Given the description of an element on the screen output the (x, y) to click on. 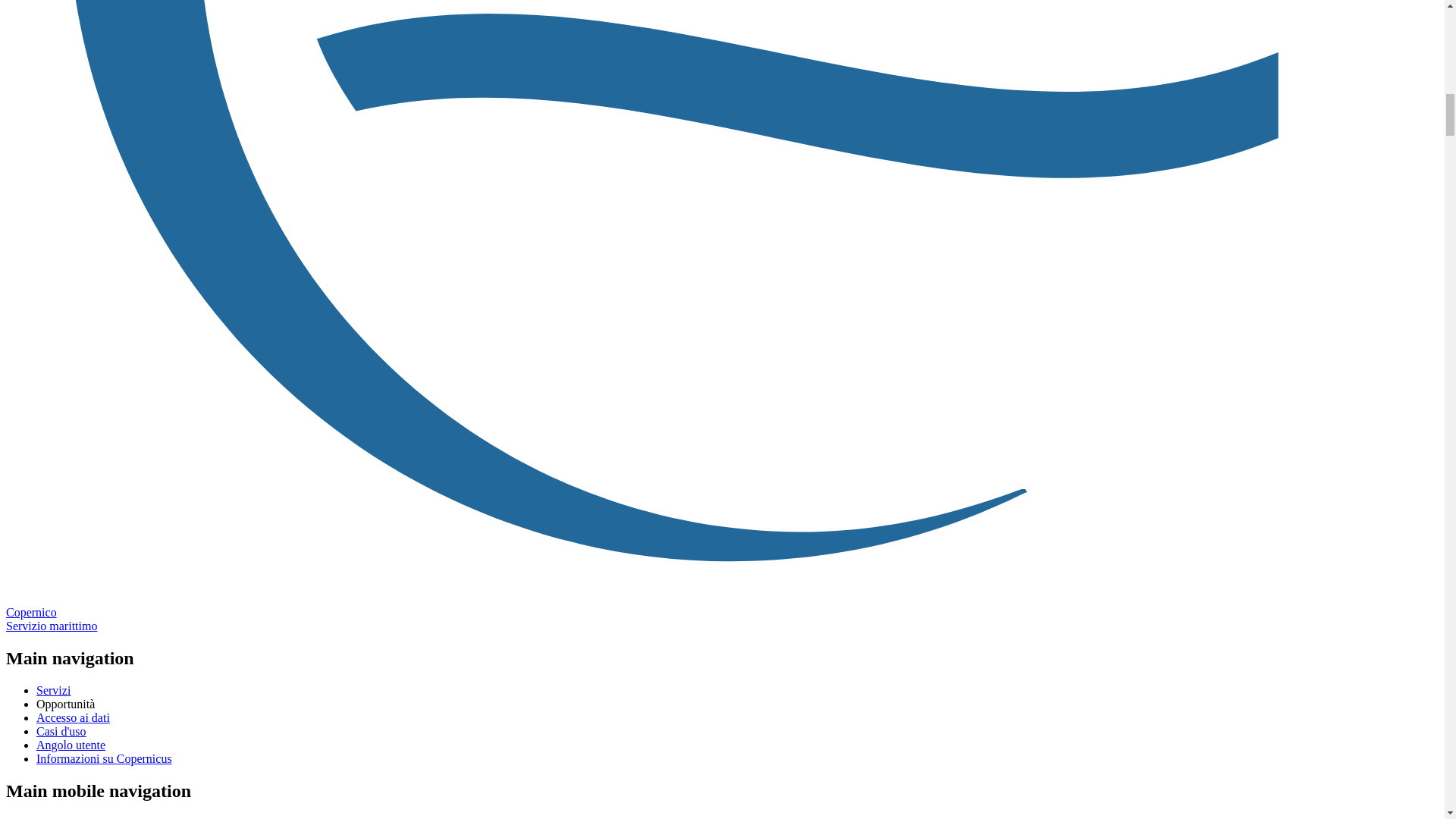
Informazioni su Copernicus (103, 758)
Servizi (52, 689)
Angolo utente (70, 744)
Accesso ai dati (73, 717)
Casi d'uso (60, 730)
